Given the description of an element on the screen output the (x, y) to click on. 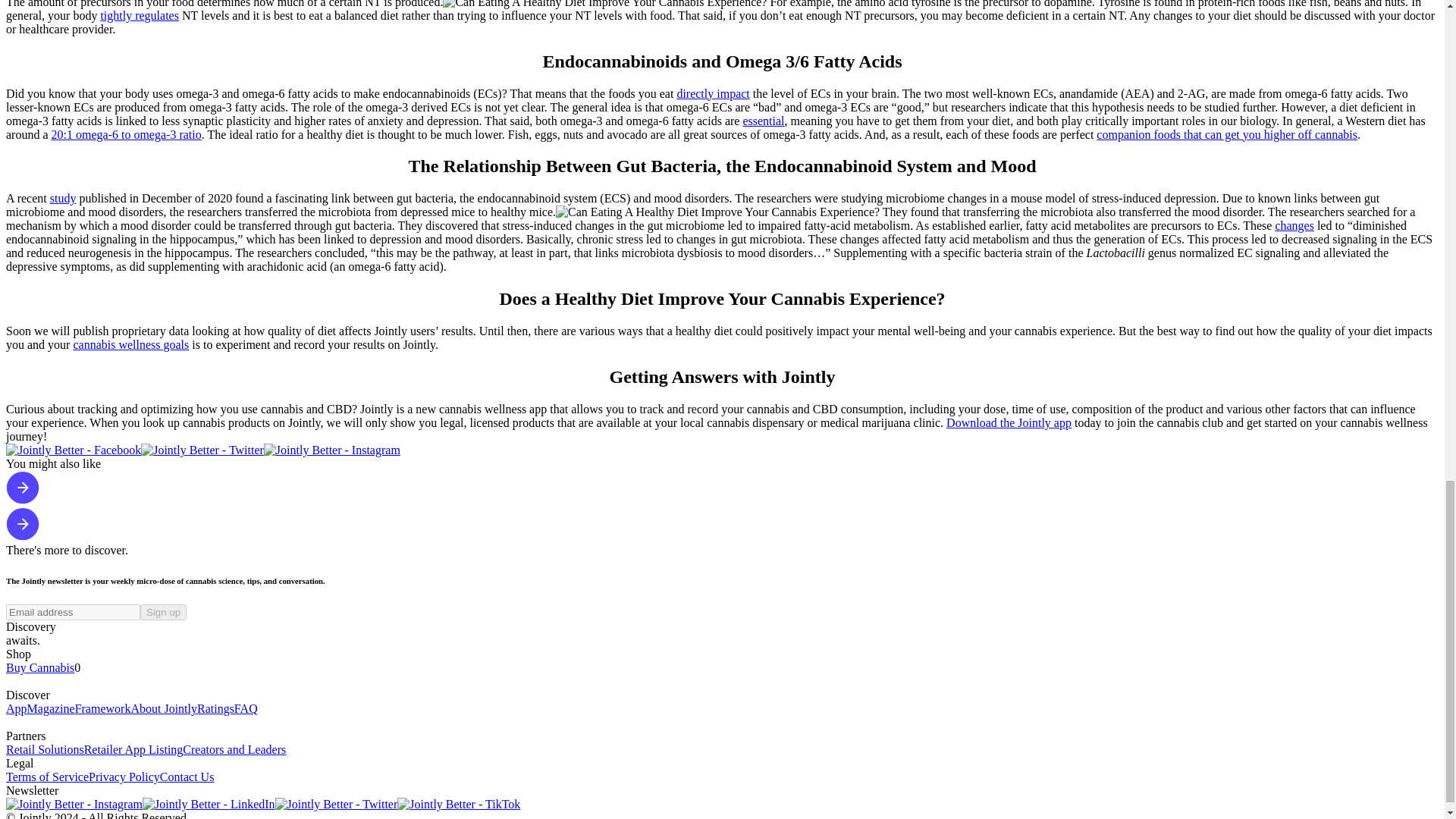
directly impact (713, 92)
Retailer App Listing (133, 748)
Download the Jointly app (1008, 422)
Ratings (215, 707)
cannabis wellness goals (130, 344)
study (63, 197)
essential (763, 120)
Retail Solutions (44, 748)
Buy Cannabis (39, 667)
changes (1294, 225)
About Jointly (163, 707)
tightly regulates (139, 15)
Magazine (51, 707)
App (16, 707)
20:1 omega-6 to omega-3 ratio (126, 133)
